Given the description of an element on the screen output the (x, y) to click on. 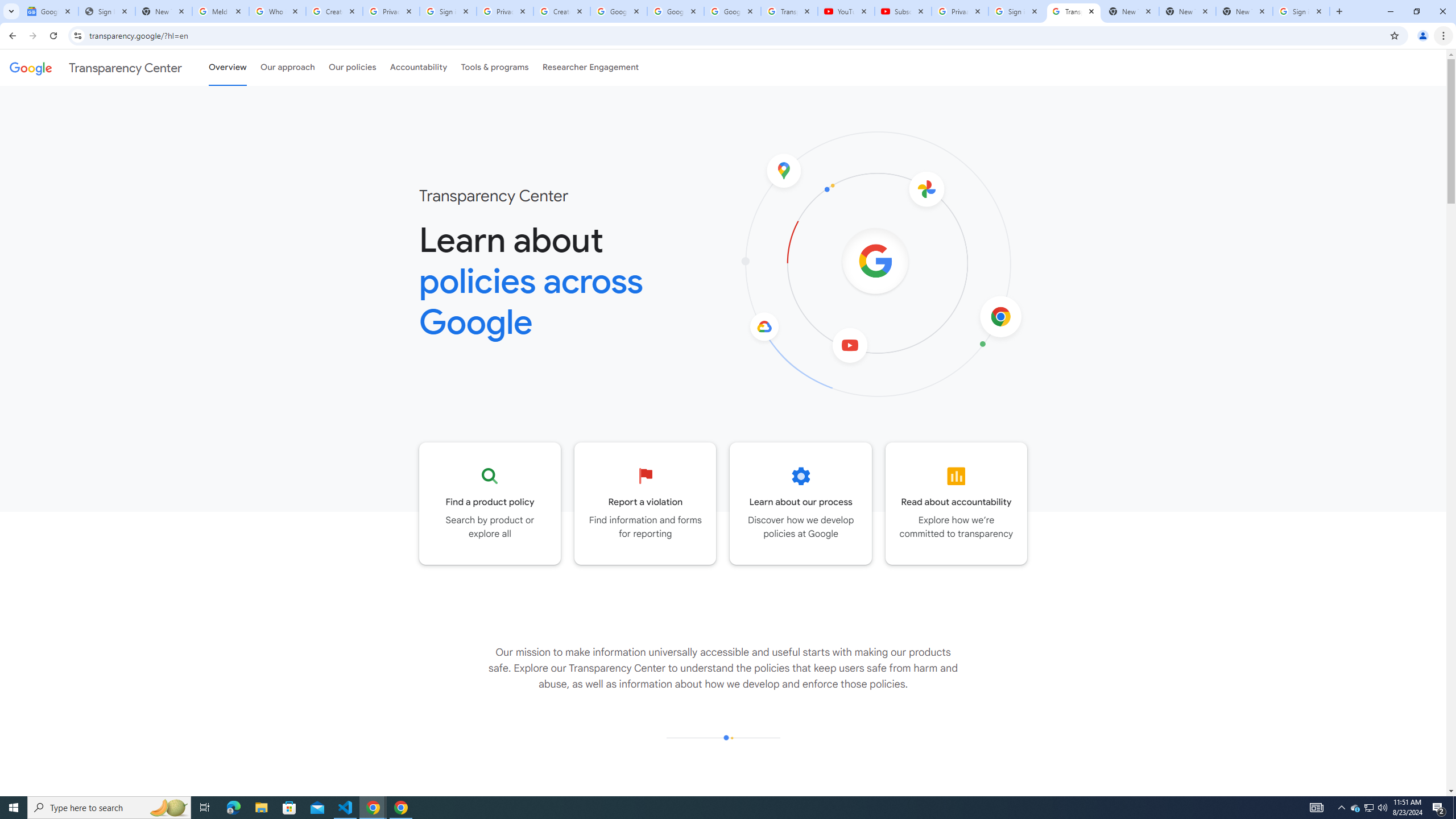
New Tab (1244, 11)
Subscriptions - YouTube (902, 11)
Sign in - Google Accounts (1015, 11)
Transparency Center (95, 67)
